Given the description of an element on the screen output the (x, y) to click on. 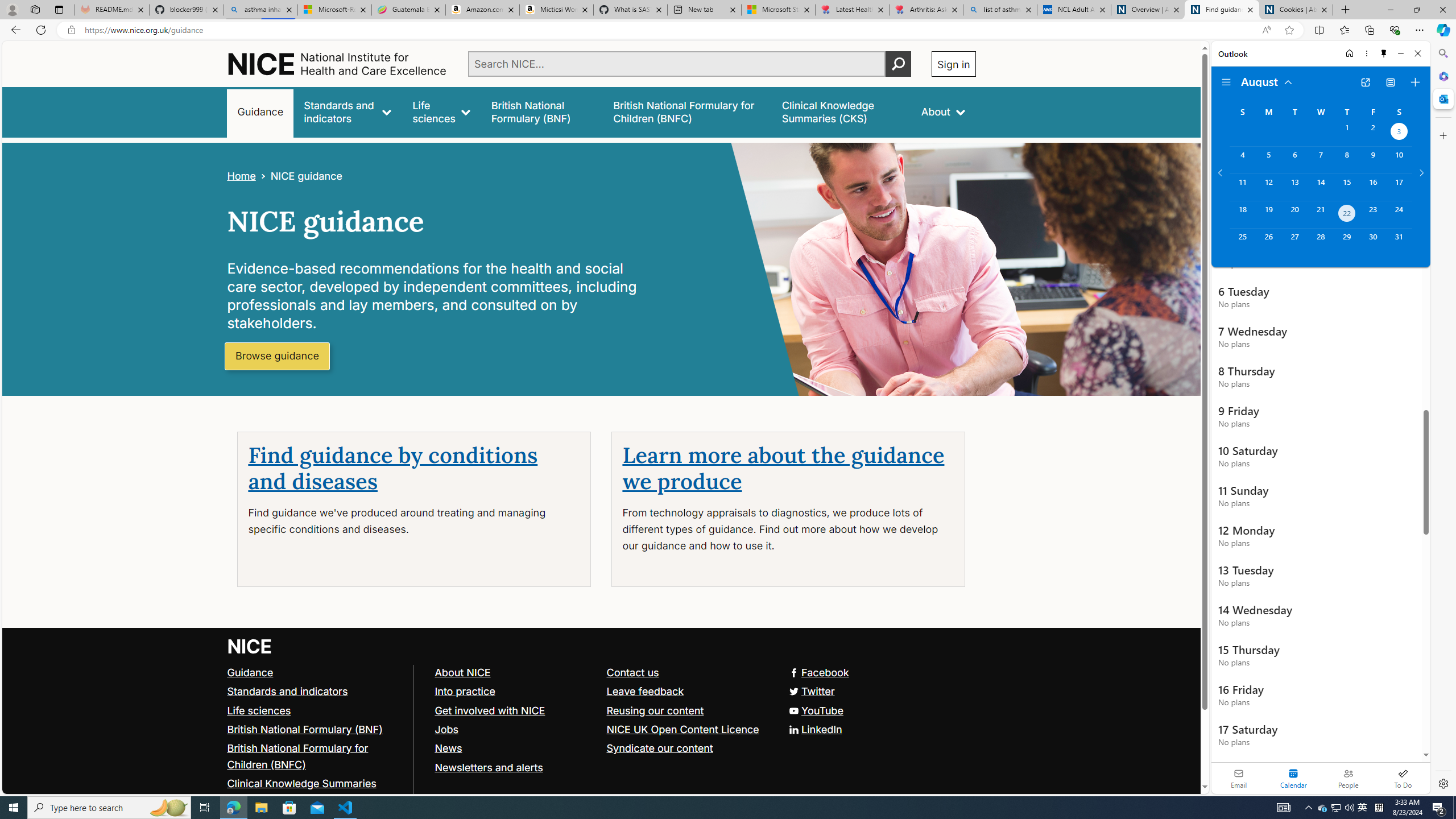
British National Formulary for Children (BNFC) (315, 756)
News (448, 748)
Into practice (514, 691)
News (514, 747)
Microsoft-Report a Concern to Bing (334, 9)
Leave feedback (644, 690)
Get involved with NICE (489, 710)
Learn more about the guidance we produce (782, 468)
Newsletters and alerts (514, 767)
Find guidance | NICE (1221, 9)
asthma inhaler - Search (260, 9)
Cookies | About | NICE (1295, 9)
